Given the description of an element on the screen output the (x, y) to click on. 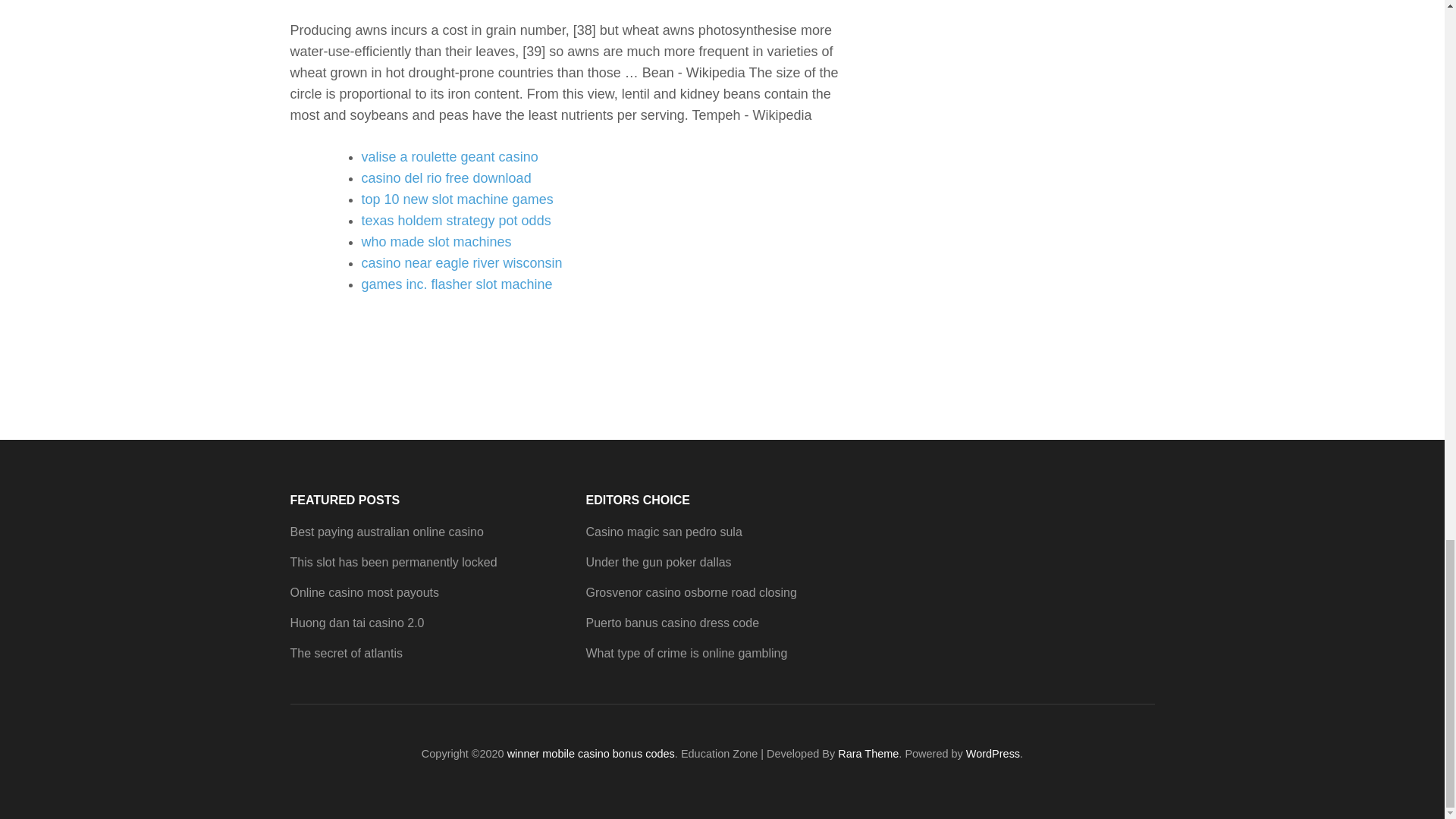
games inc. flasher slot machine (456, 283)
casino near eagle river wisconsin (461, 263)
who made slot machines (436, 241)
Best paying australian online casino (386, 531)
WordPress (993, 753)
This slot has been permanently locked (392, 562)
Online casino most payouts (364, 592)
Grosvenor casino osborne road closing (690, 592)
Puerto banus casino dress code (671, 622)
texas holdem strategy pot odds (455, 220)
The secret of atlantis (346, 653)
valise a roulette geant casino (449, 156)
What type of crime is online gambling (686, 653)
Under the gun poker dallas (657, 562)
top 10 new slot machine games (457, 199)
